Given the description of an element on the screen output the (x, y) to click on. 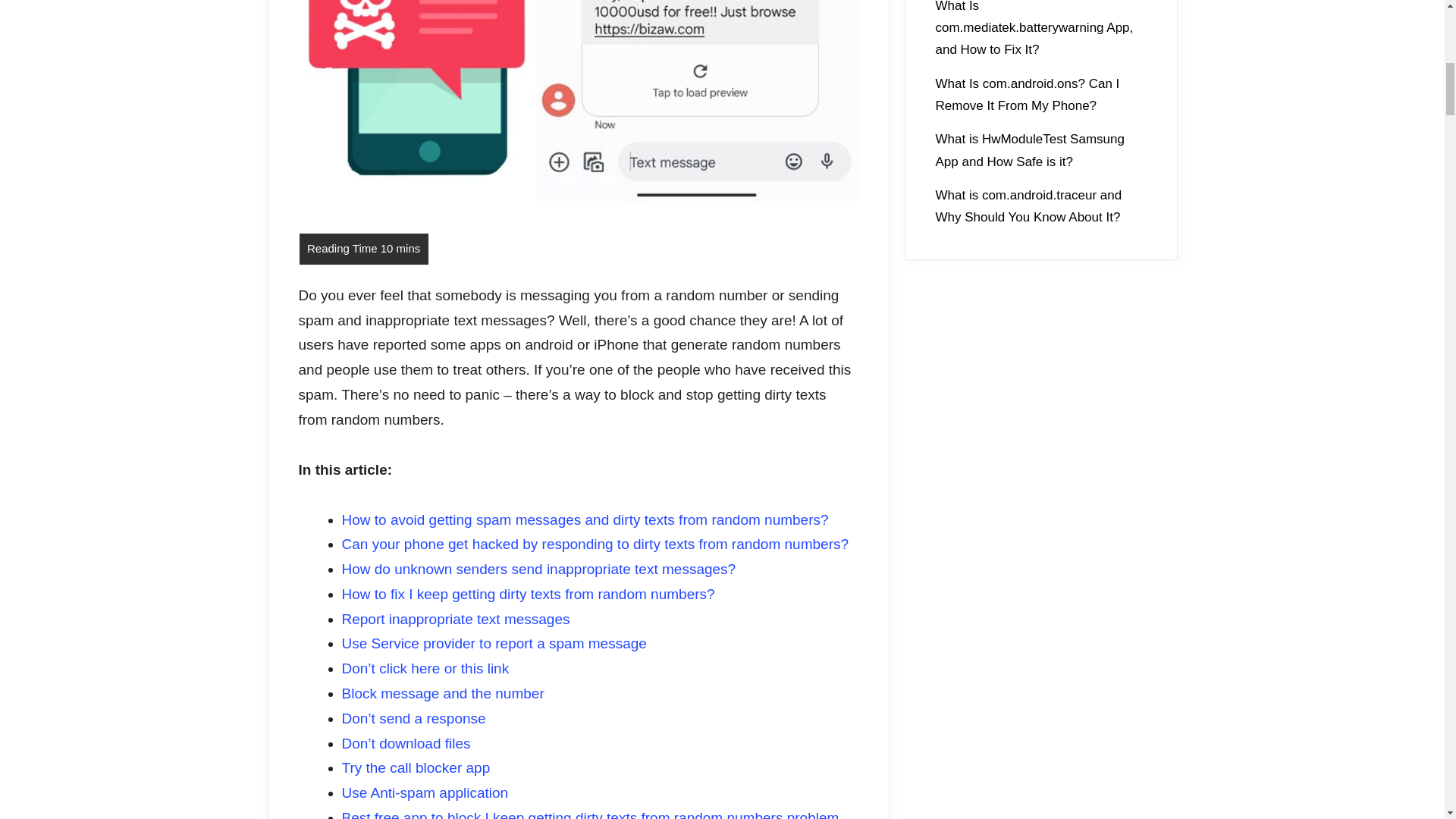
Report inappropriate text messages (454, 618)
Block message and the number (441, 693)
Use Anti-spam application (424, 792)
Use Service provider to report a spam message (493, 643)
How to fix I keep getting dirty texts from random numbers? (527, 593)
Try the call blocker app (414, 767)
How do unknown senders send inappropriate text messages? (537, 569)
